Given the description of an element on the screen output the (x, y) to click on. 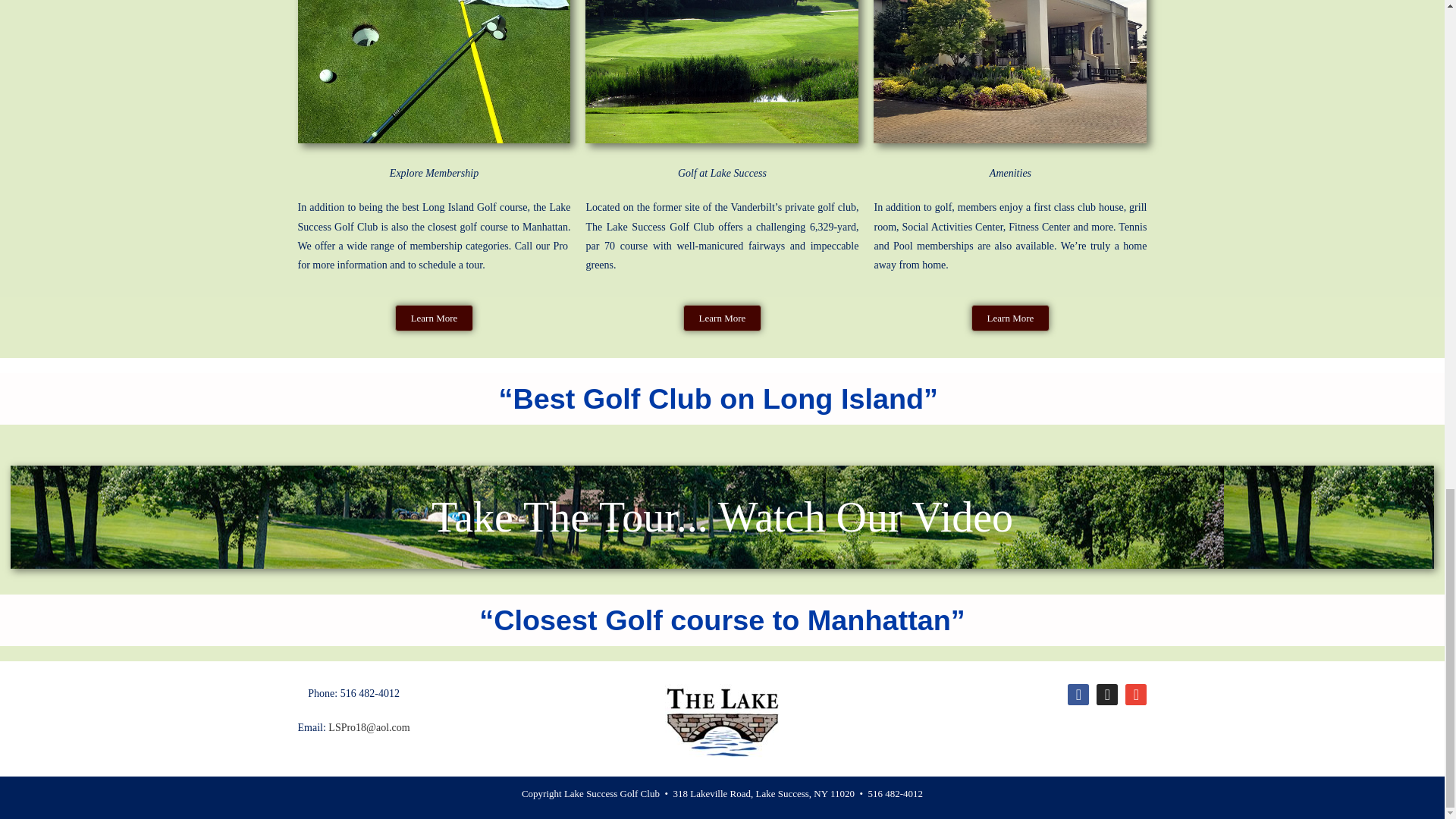
Learn More (1010, 317)
Take The Tour... Watch Our Video (721, 516)
Learn More (721, 317)
Learn More (434, 317)
